Given the description of an element on the screen output the (x, y) to click on. 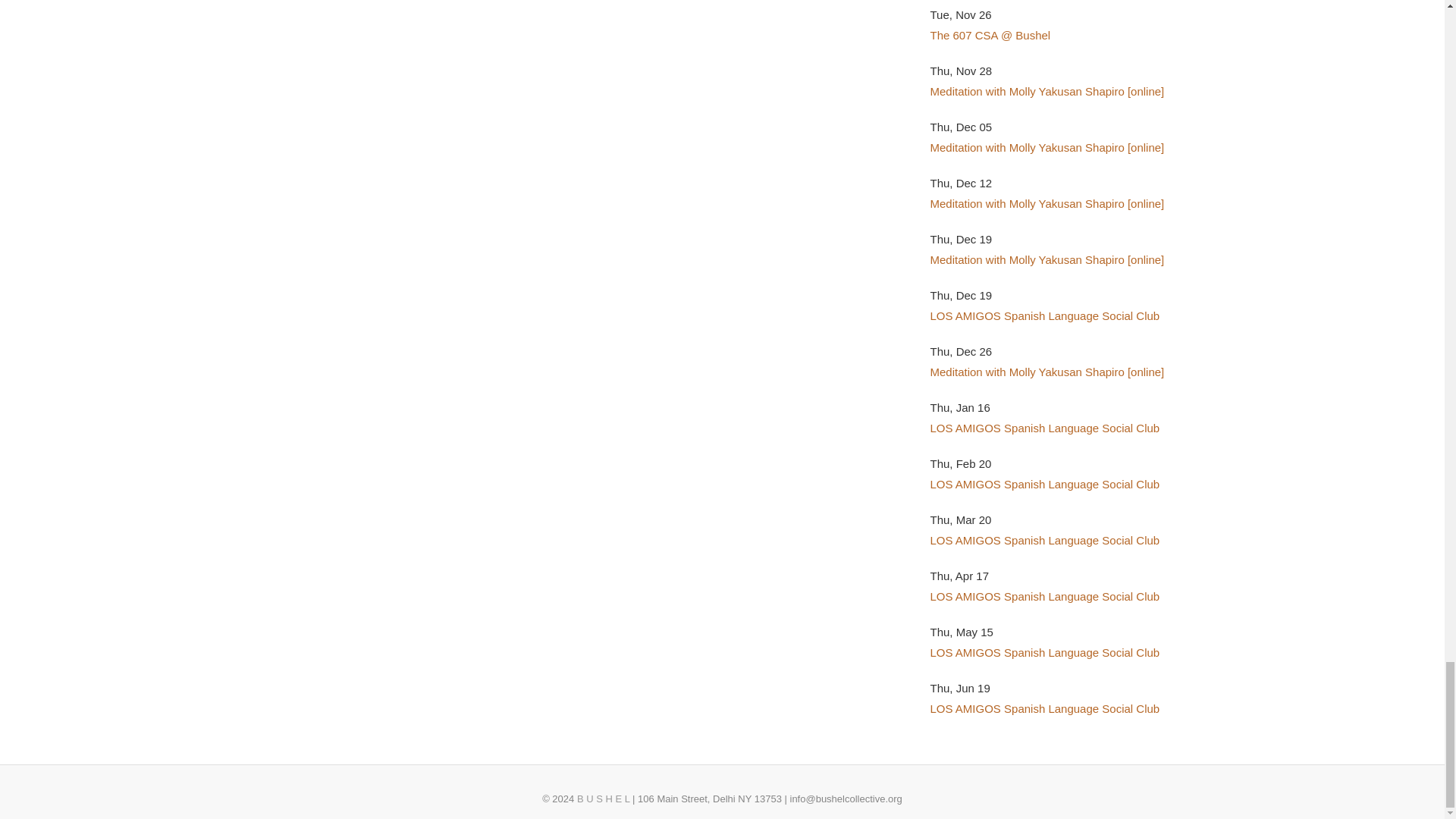
B U S H E L (603, 798)
